Given the description of an element on the screen output the (x, y) to click on. 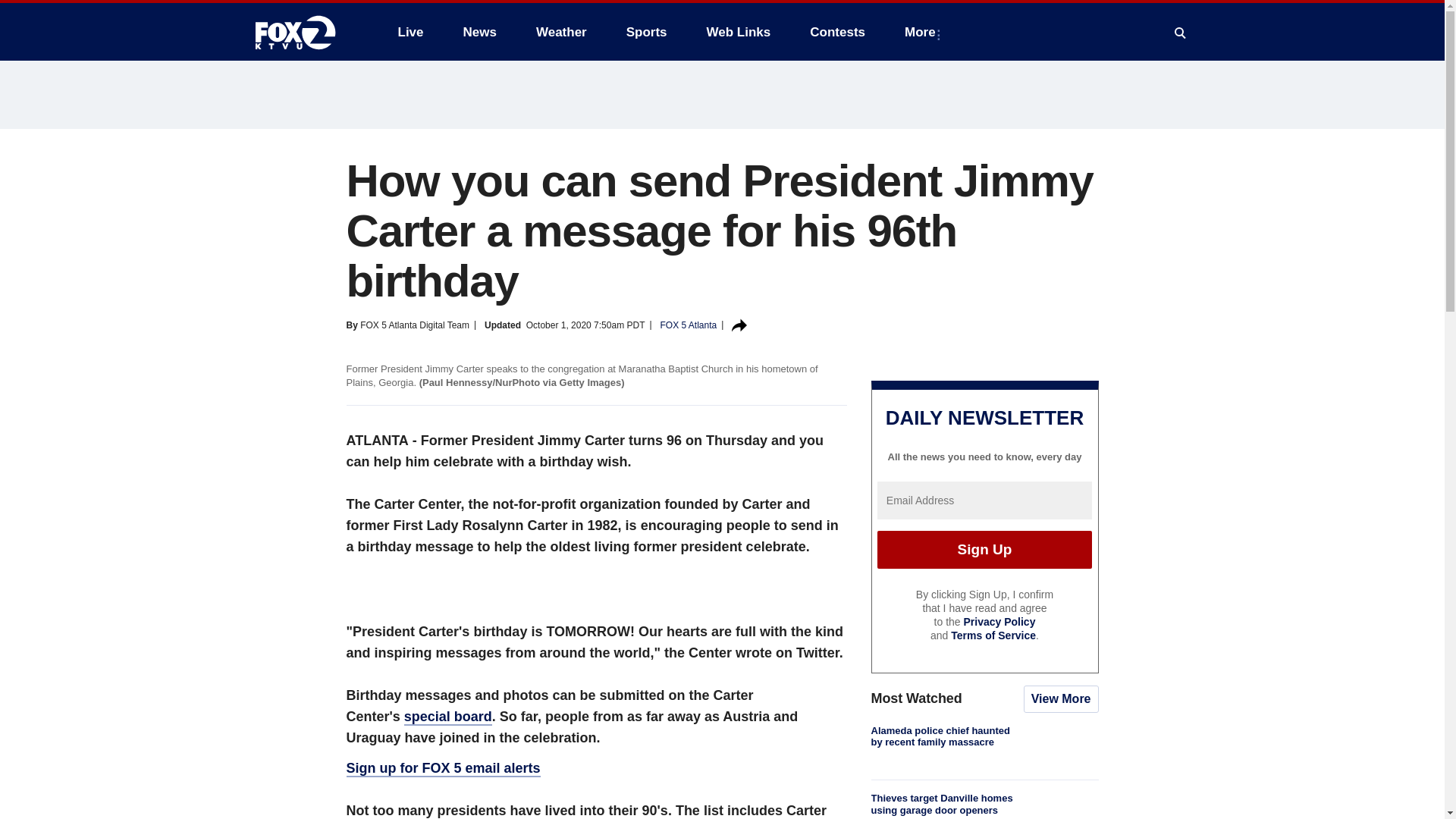
Web Links (738, 32)
Contests (837, 32)
News (479, 32)
Sports (646, 32)
Sign Up (984, 549)
More (922, 32)
Weather (561, 32)
Live (410, 32)
